Given the description of an element on the screen output the (x, y) to click on. 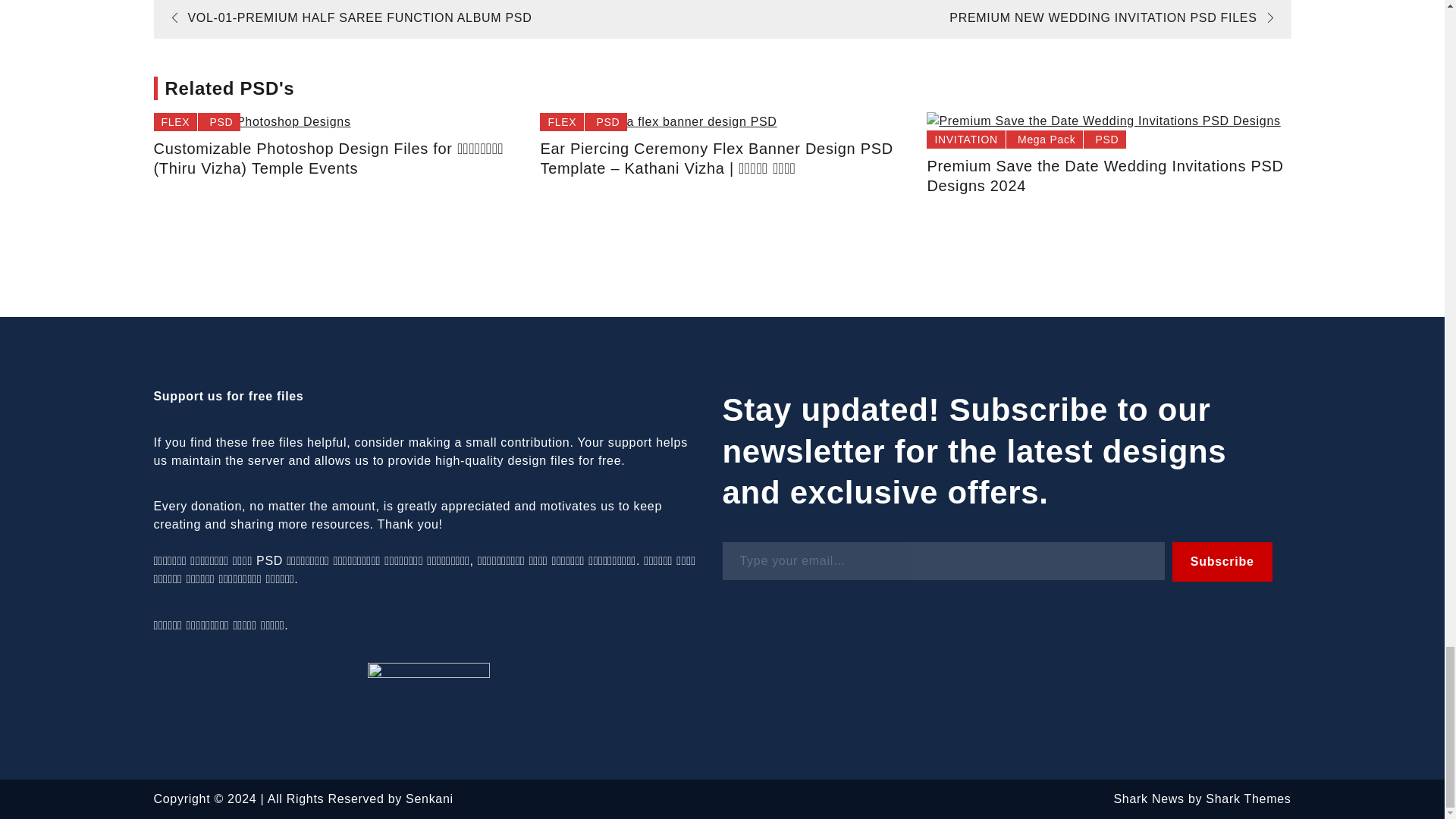
FLEX (562, 121)
VOL-01-PREMIUM HALF SAREE FUNCTION ALBUM PSD (345, 17)
FLEX (175, 121)
PSD (607, 121)
PSD (221, 121)
PREMIUM NEW WEDDING INVITATION PSD FILES (1115, 17)
